Given the description of an element on the screen output the (x, y) to click on. 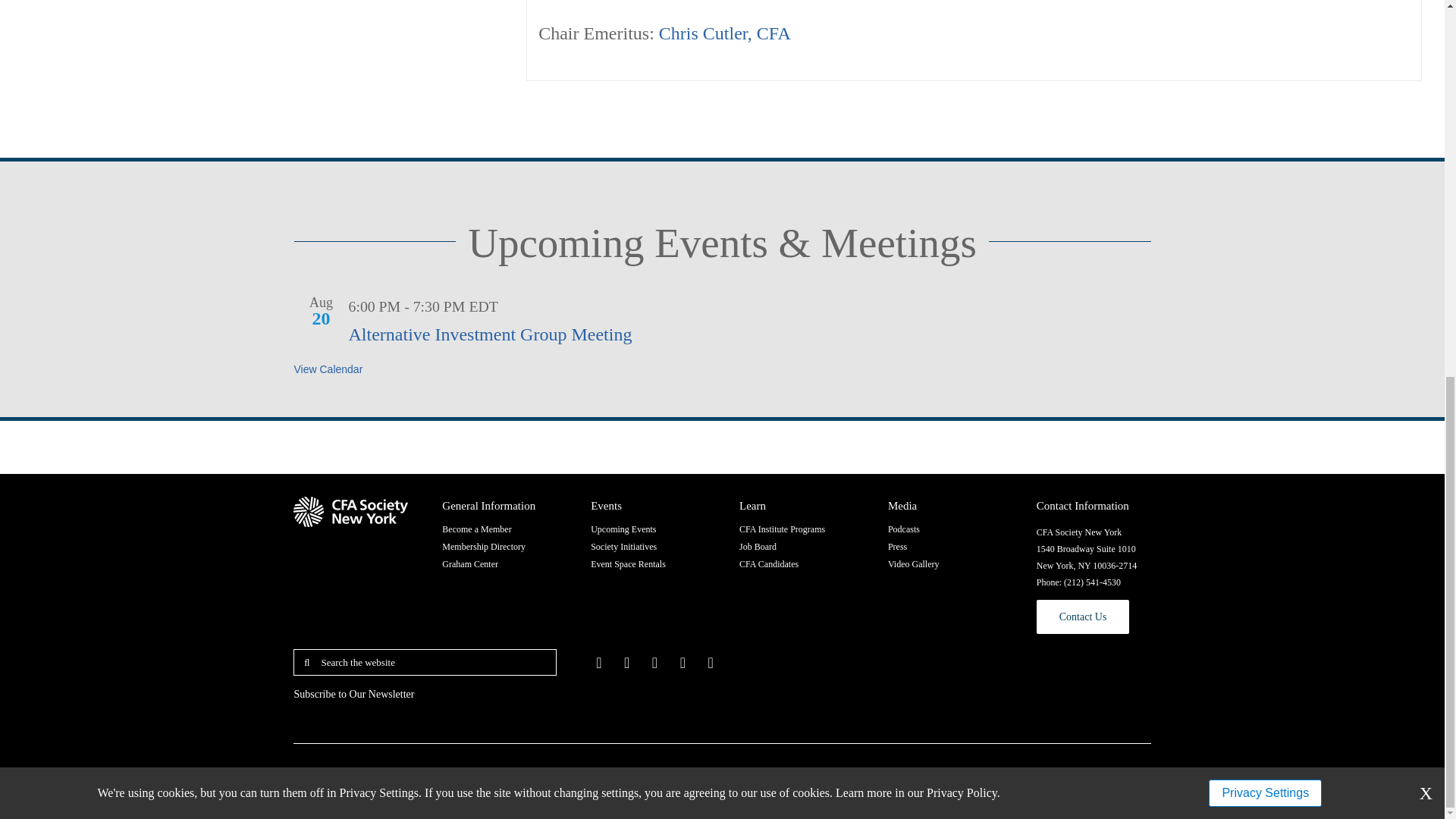
View more events. (328, 369)
Alternative Investment Group Meeting (490, 333)
